Given the description of an element on the screen output the (x, y) to click on. 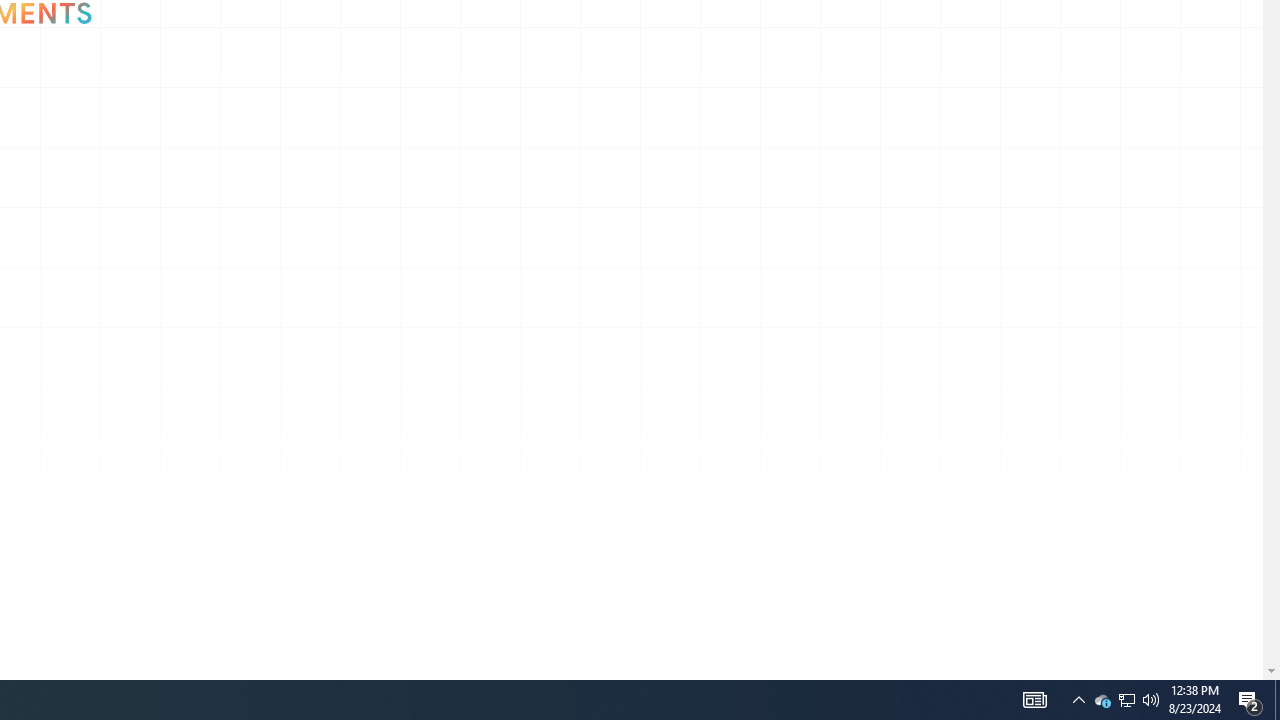
Difficult (123, 650)
Difficult (123, 649)
